Given the description of an element on the screen output the (x, y) to click on. 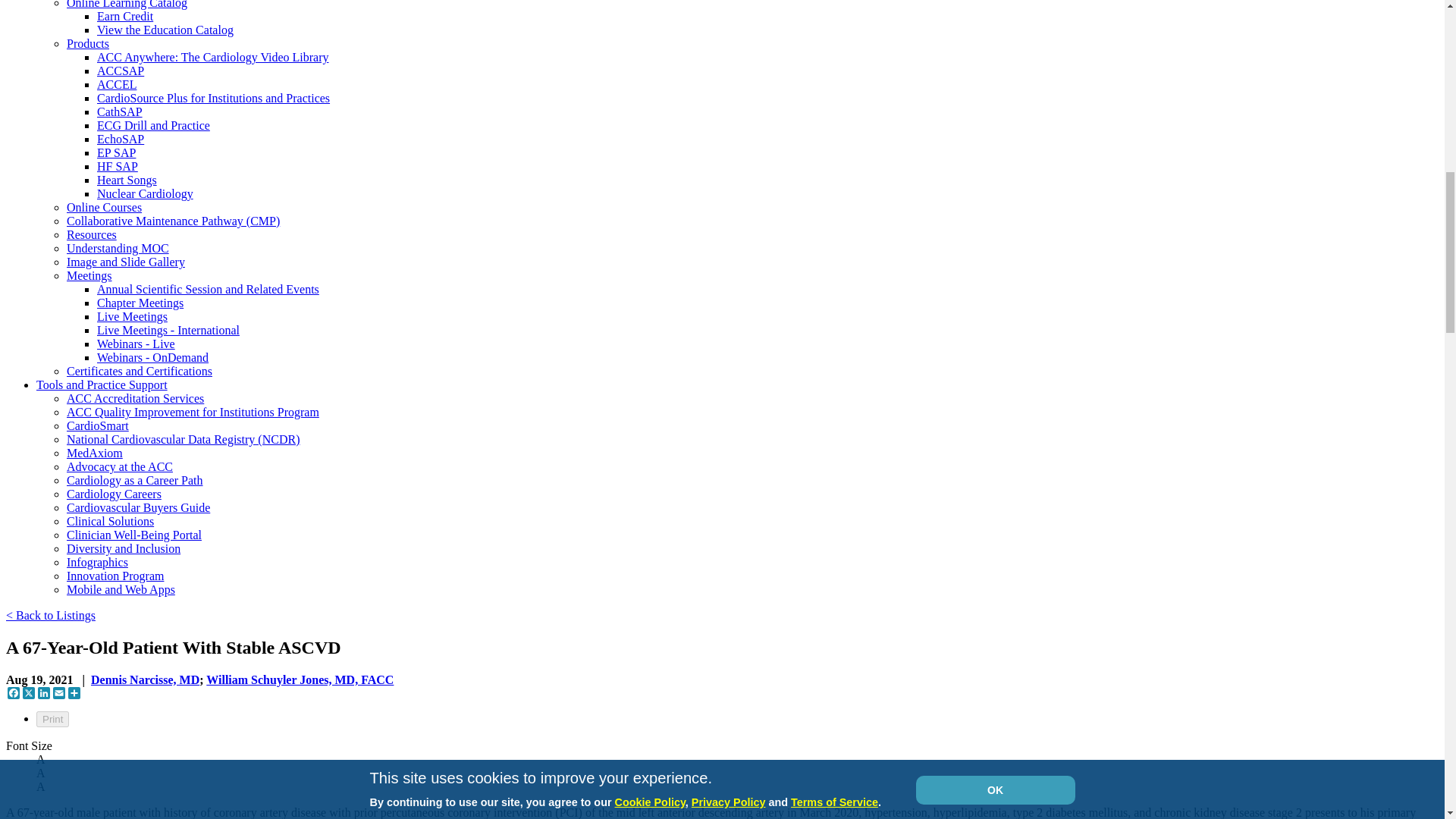
Clinician Well-Being Portal (134, 534)
ECG Drill and Practice (153, 124)
Diversity and Inclusion (123, 548)
